Given the description of an element on the screen output the (x, y) to click on. 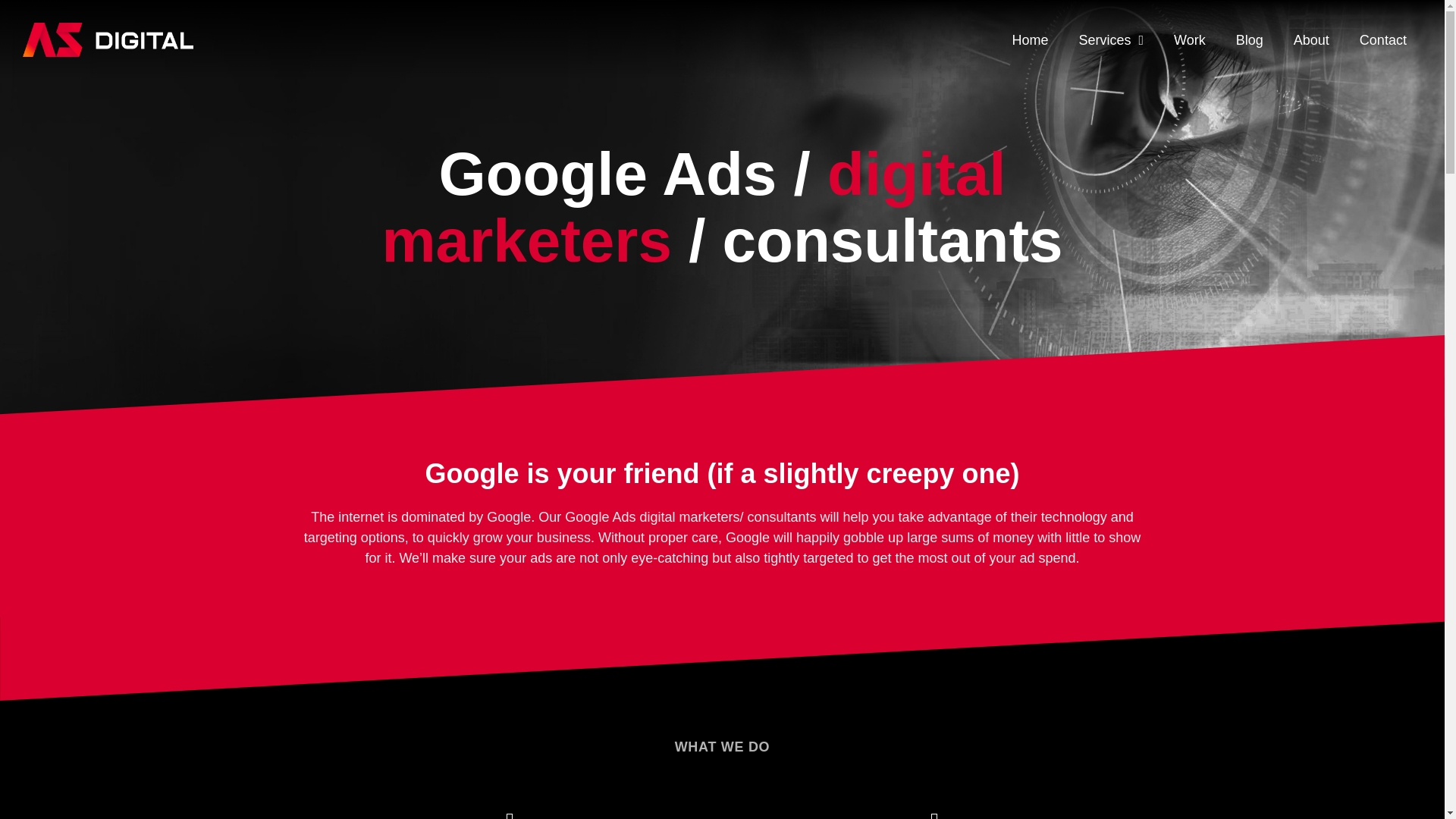
Blog (1249, 39)
About (1310, 39)
Services (1110, 39)
Work (1189, 39)
Home (1028, 39)
Contact (1382, 39)
